Given the description of an element on the screen output the (x, y) to click on. 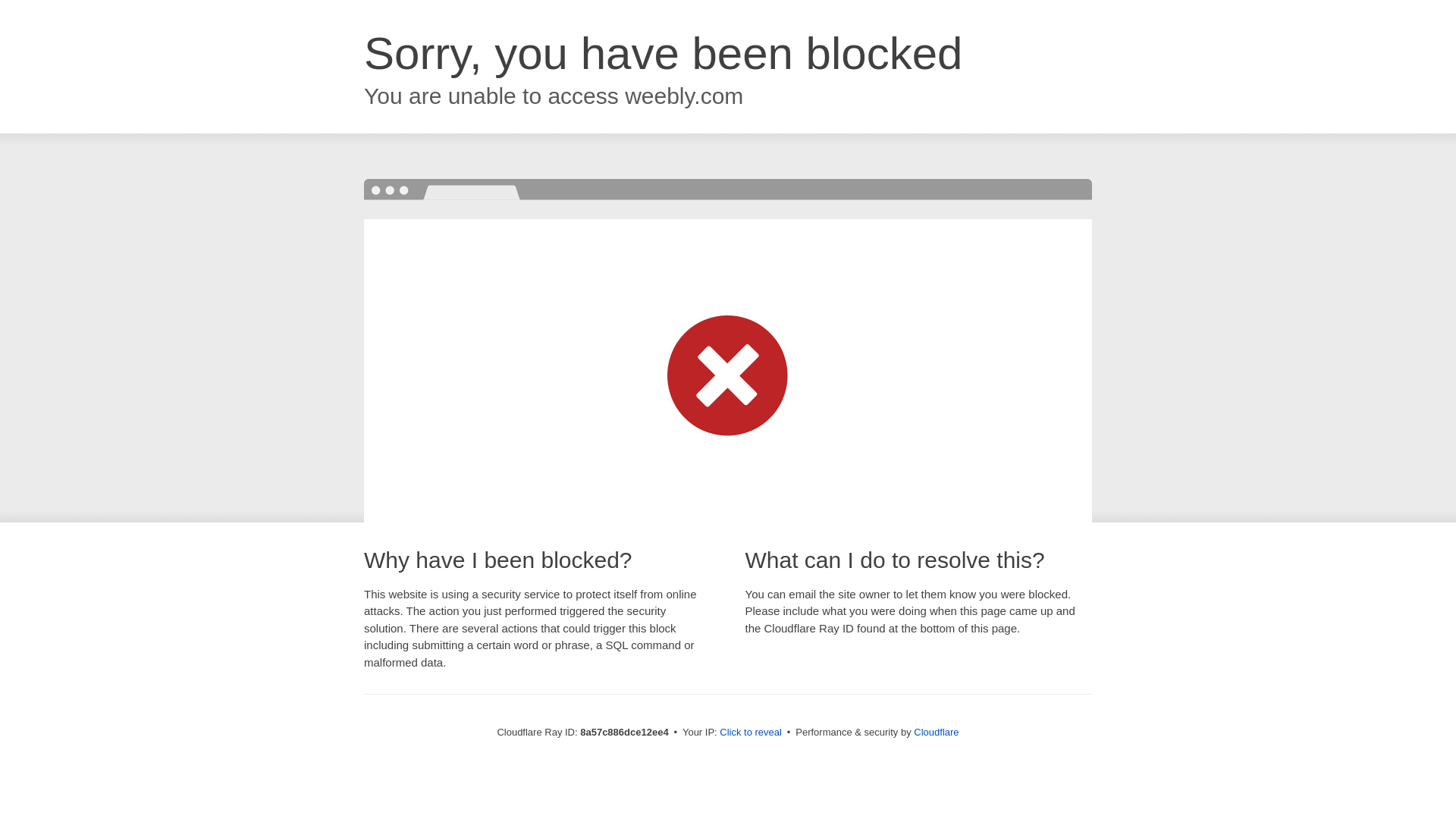
Click to reveal (750, 732)
Cloudflare (936, 731)
